Given the description of an element on the screen output the (x, y) to click on. 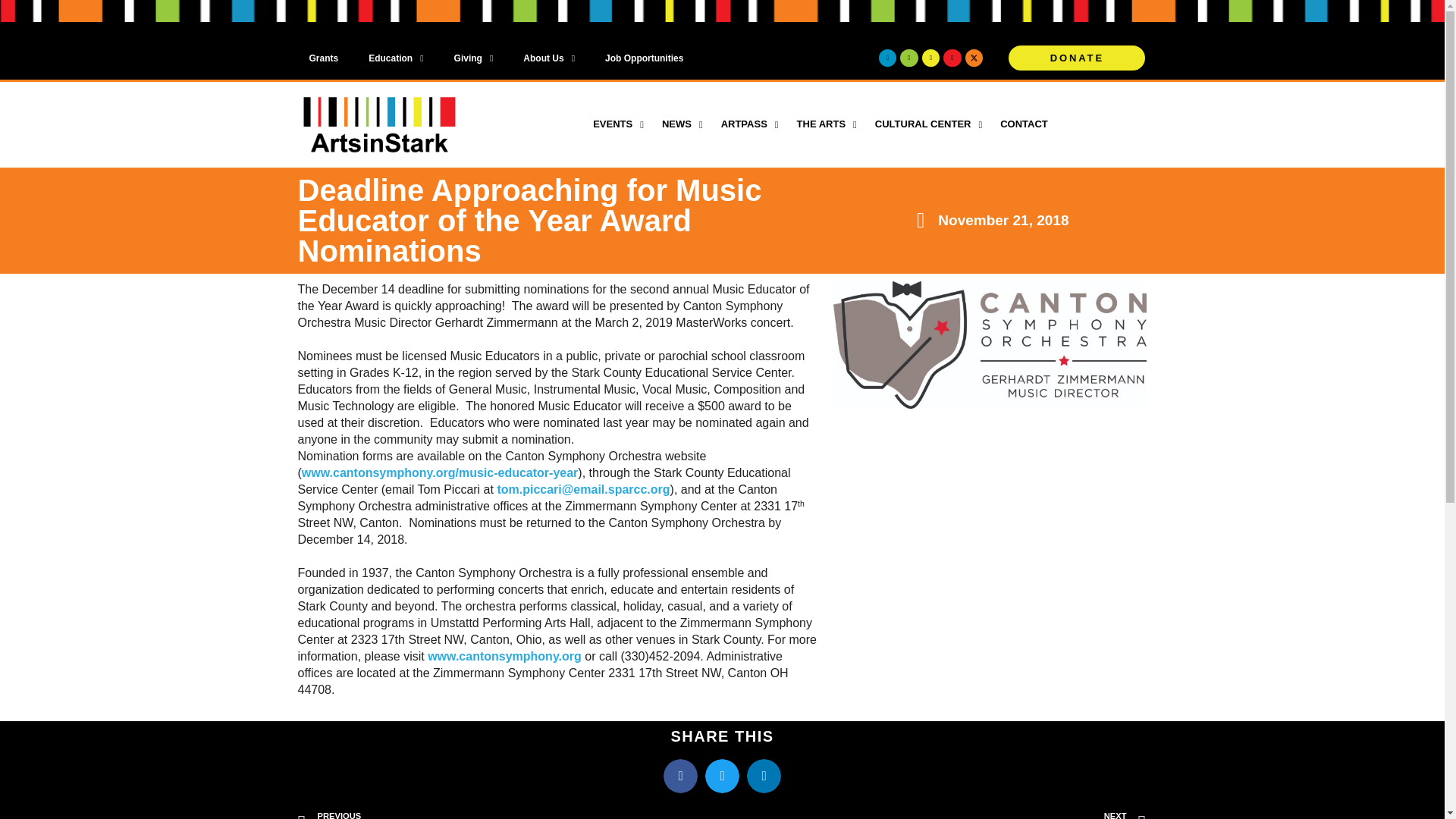
About Us (548, 58)
Grants (323, 58)
DONATE (1076, 57)
Job Opportunities (643, 58)
Education (395, 58)
Giving (473, 58)
